Given the description of an element on the screen output the (x, y) to click on. 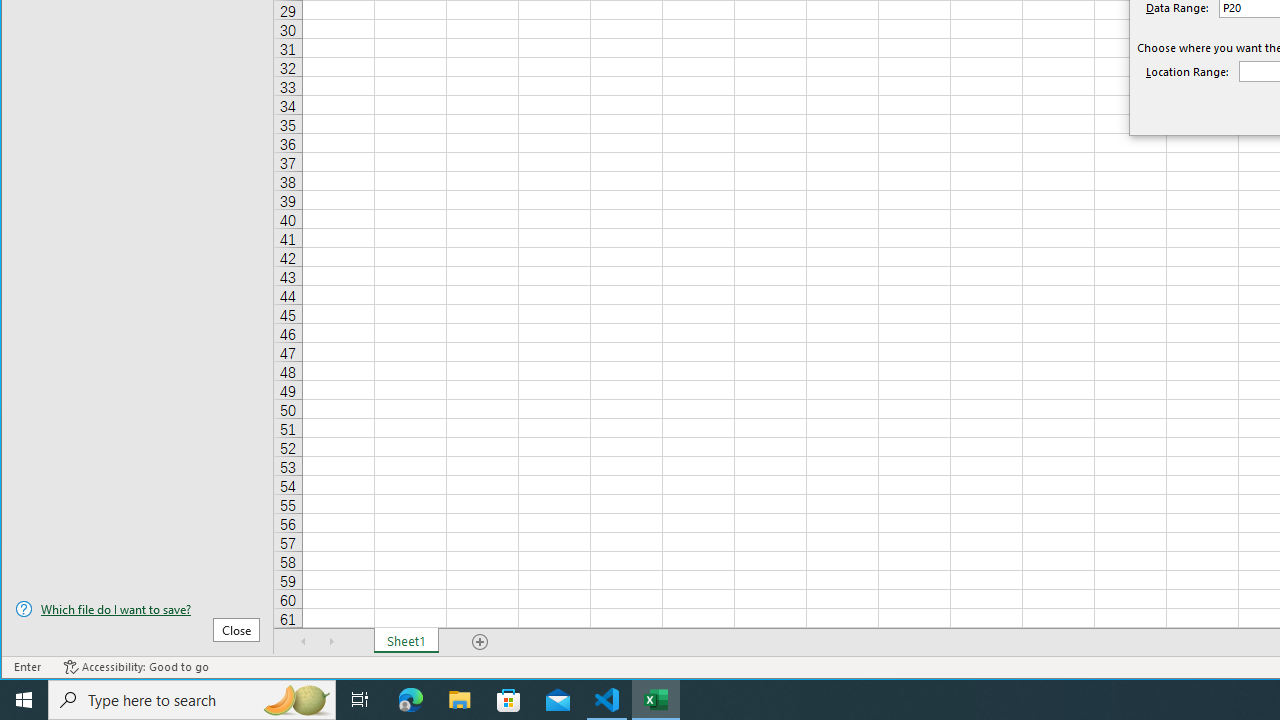
Scroll Left (303, 641)
Scroll Right (331, 641)
Which file do I want to save? (137, 609)
Accessibility Checker Accessibility: Good to go (136, 667)
Add Sheet (481, 641)
Close (235, 629)
Sheet1 (406, 641)
